Given the description of an element on the screen output the (x, y) to click on. 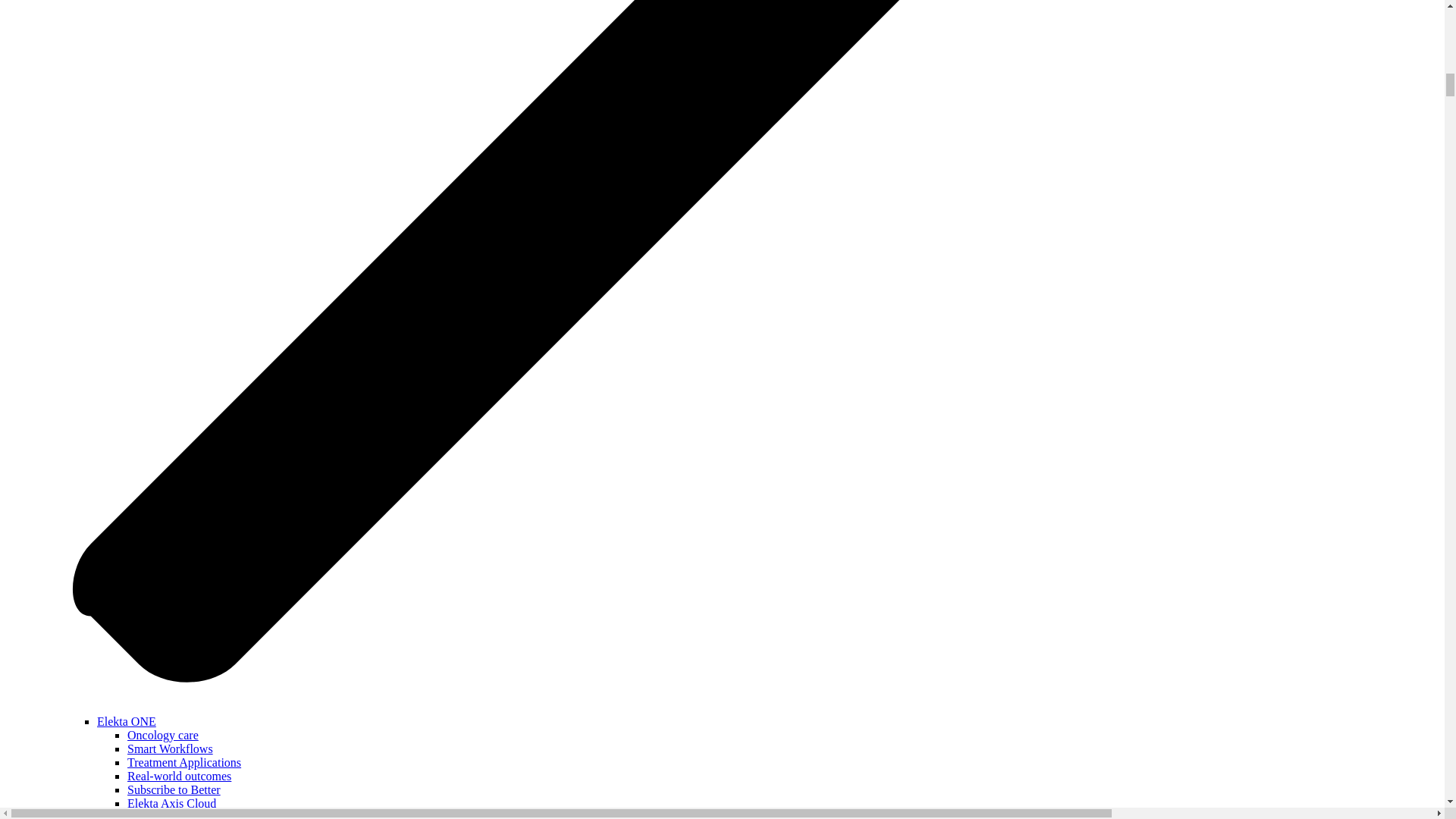
Real-world outcomes (179, 775)
Interoperability (165, 814)
Elekta Axis Cloud (171, 802)
Subscribe to Better (174, 789)
Oncology care (163, 735)
Treatment Applications (184, 762)
Elekta ONE (126, 721)
Smart Workflows (170, 748)
